Given the description of an element on the screen output the (x, y) to click on. 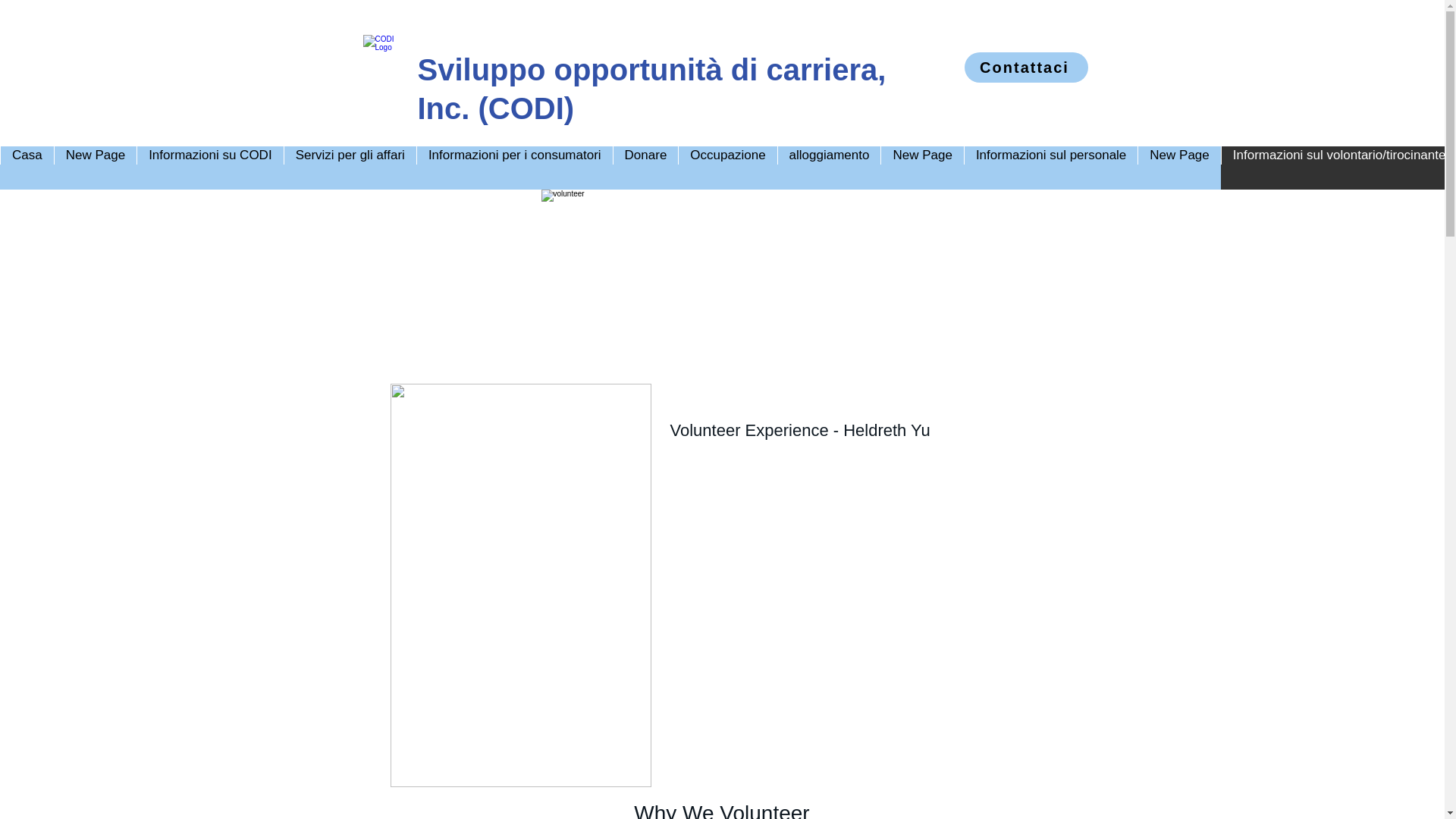
New Page (94, 167)
Informazioni per i consumatori (514, 167)
Casa (26, 167)
Informazioni su CODI (209, 167)
Servizi per gli affari (349, 167)
Contattaci (1025, 67)
New Page (921, 167)
Informazioni sul personale (1050, 167)
Occupazione (727, 167)
alloggiamento (828, 167)
